Given the description of an element on the screen output the (x, y) to click on. 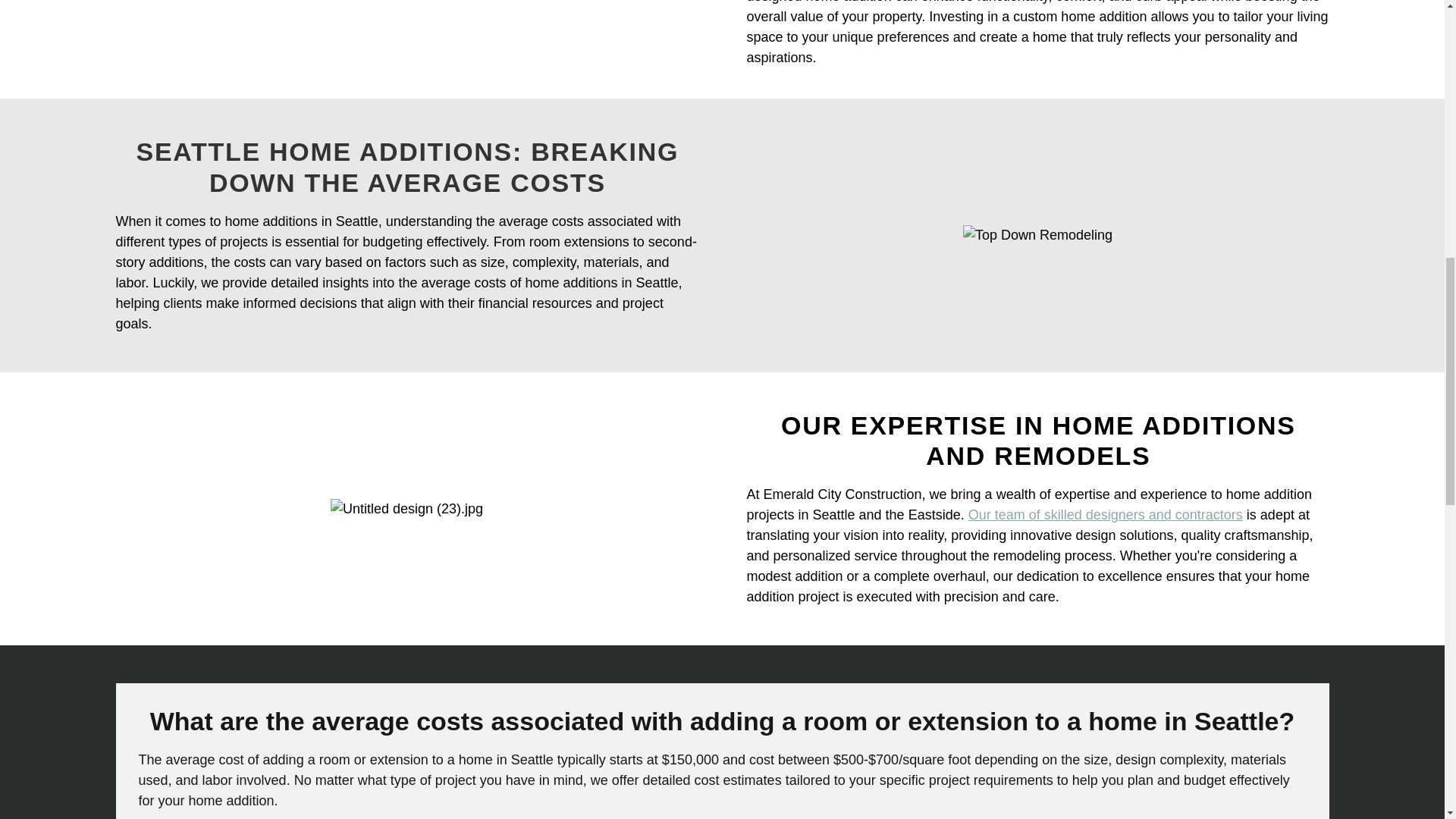
Our team of skilled designers and contractors (1105, 514)
